Given the description of an element on the screen output the (x, y) to click on. 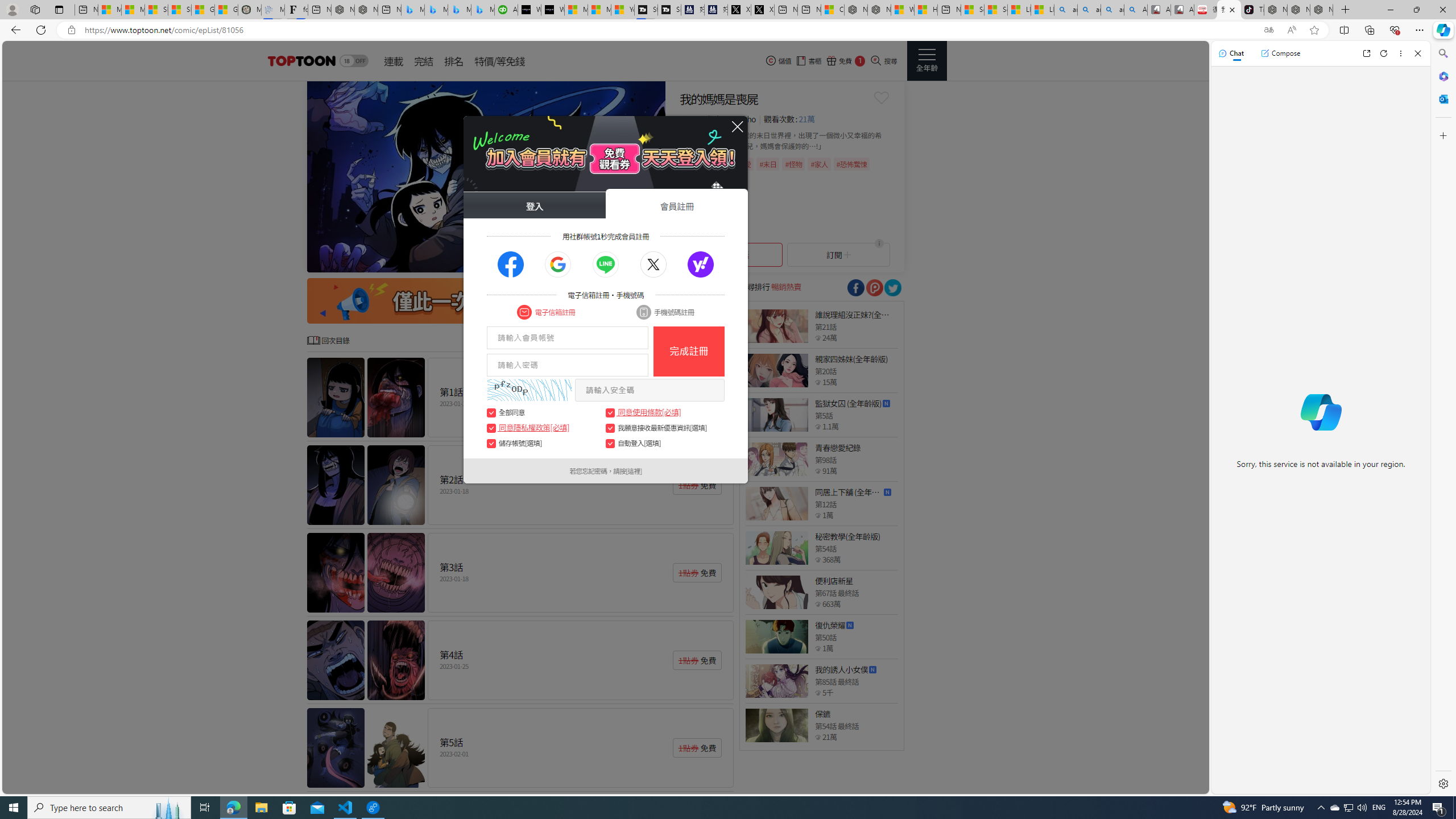
Class: swiper-slide swiper-slide-prev (486, 176)
Show translate options (1268, 29)
amazon - Search Images (1112, 9)
Go to slide 3 (588, 261)
Streaming Coverage | T3 (645, 9)
What's the best AI voice generator? - voice.ai (552, 9)
Shanghai, China weather forecast | Microsoft Weather (179, 9)
